Given the description of an element on the screen output the (x, y) to click on. 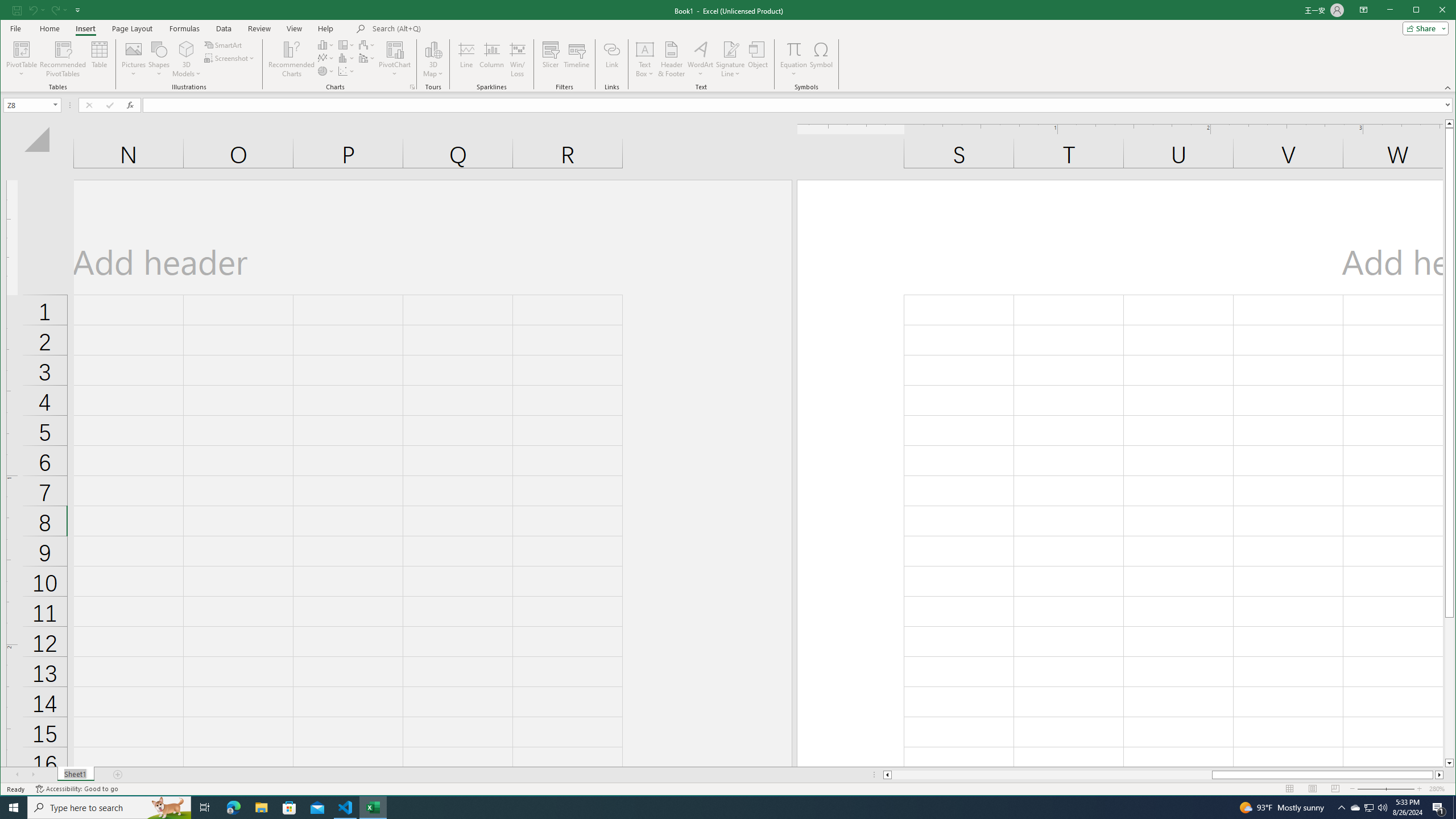
Sheet Tab (75, 774)
Pictures (133, 59)
Win/Loss (517, 59)
Column (492, 59)
Notification Chevron (1341, 807)
Object... (757, 59)
Recommended PivotTables (63, 59)
Type here to search (108, 807)
